Given the description of an element on the screen output the (x, y) to click on. 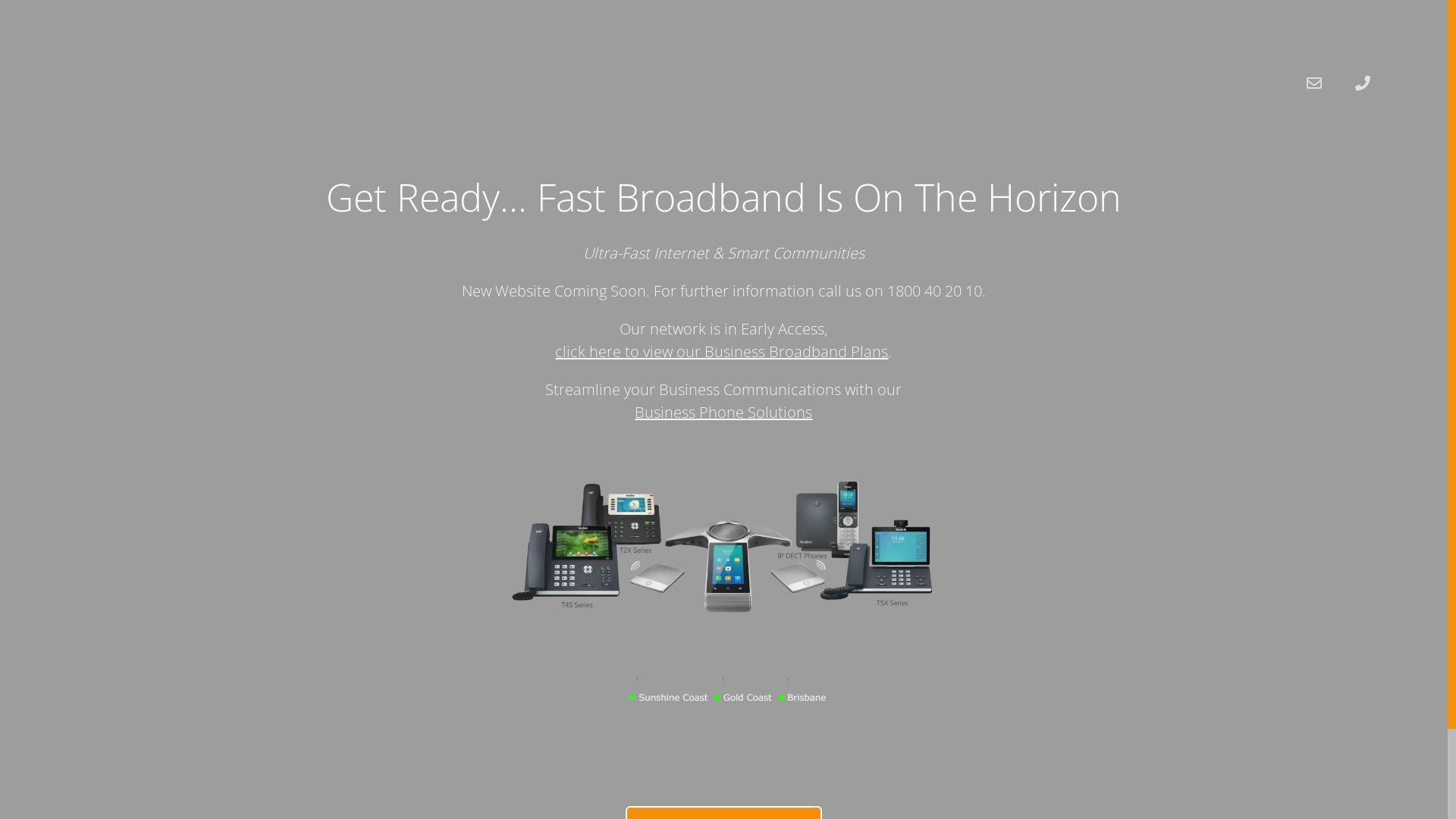
Submit Element type: text (879, 515)
click here to view our Business Broadband Plans Element type: text (721, 351)
Business Phone Solutions Element type: text (723, 411)
